Given the description of an element on the screen output the (x, y) to click on. 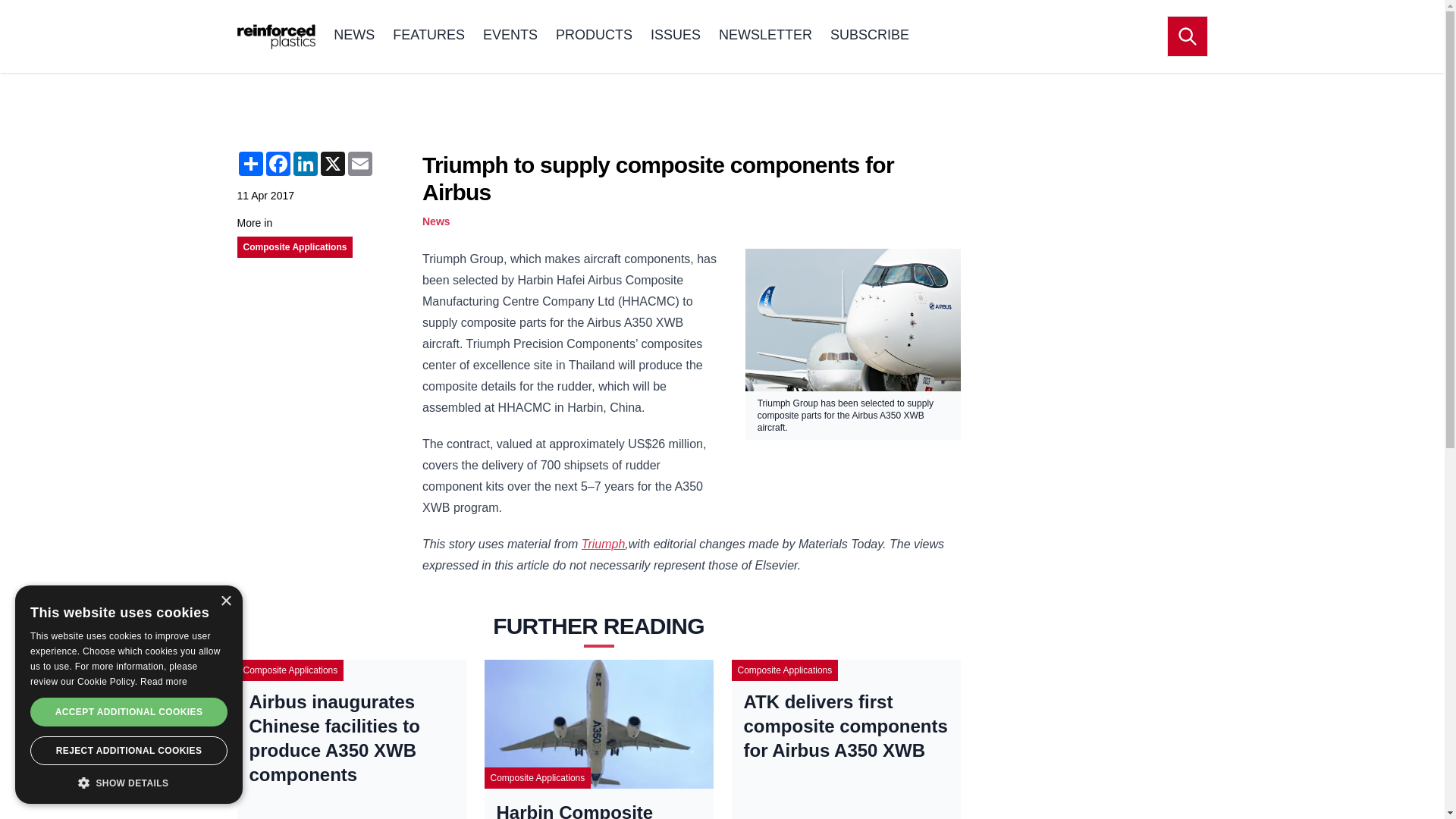
NEWSLETTER (765, 36)
LinkedIn (304, 163)
Email (359, 163)
Composite Applications (294, 246)
X (332, 163)
EVENTS (510, 36)
SUBSCRIBE (868, 36)
News (435, 221)
Triumph (603, 543)
ATK delivers first composite components for Airbus A350 XWB (844, 726)
Facebook (277, 163)
PRODUCTS (593, 36)
ISSUES (675, 36)
FEATURES (428, 36)
